Given the description of an element on the screen output the (x, y) to click on. 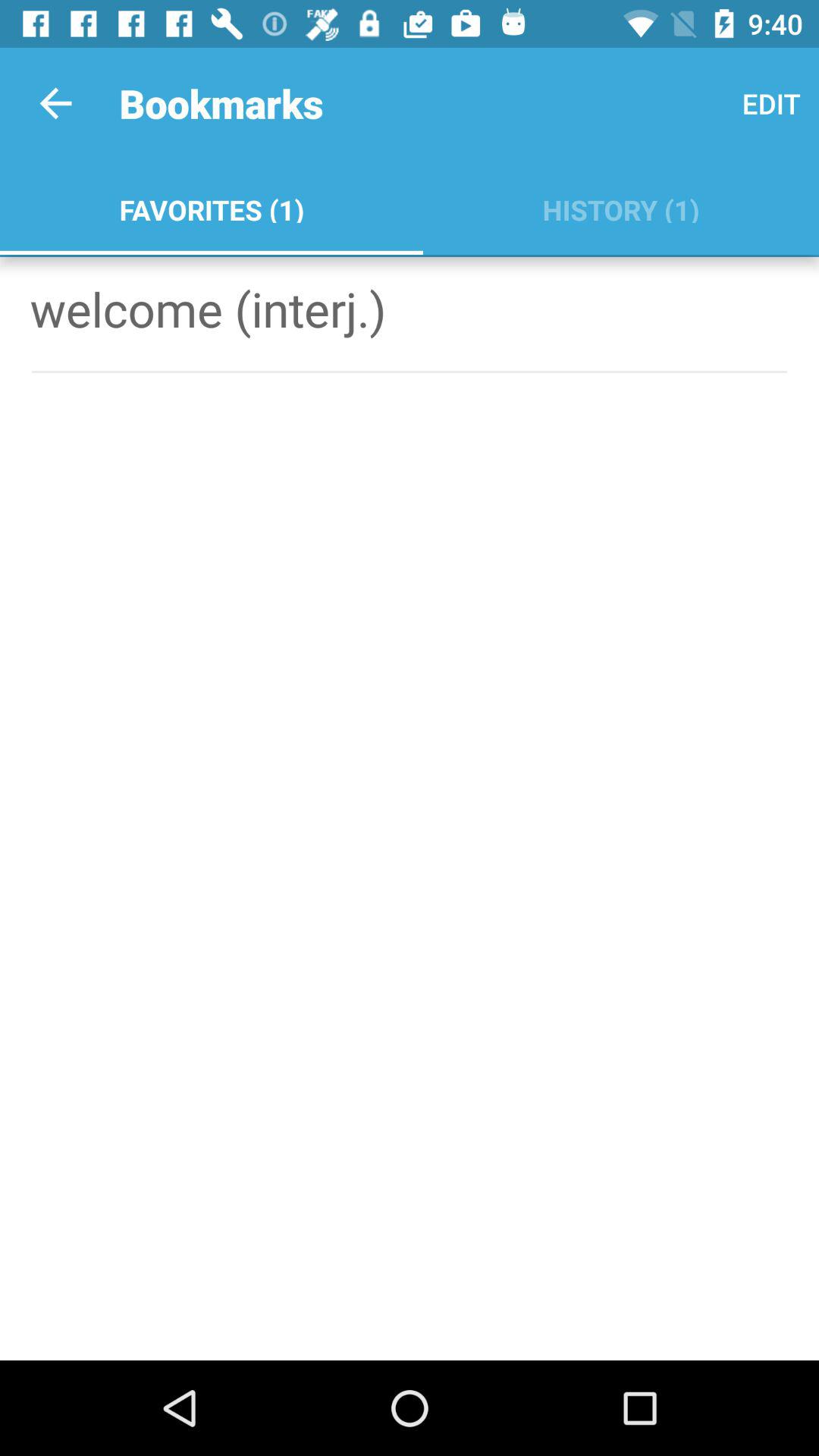
click edit icon (771, 103)
